Given the description of an element on the screen output the (x, y) to click on. 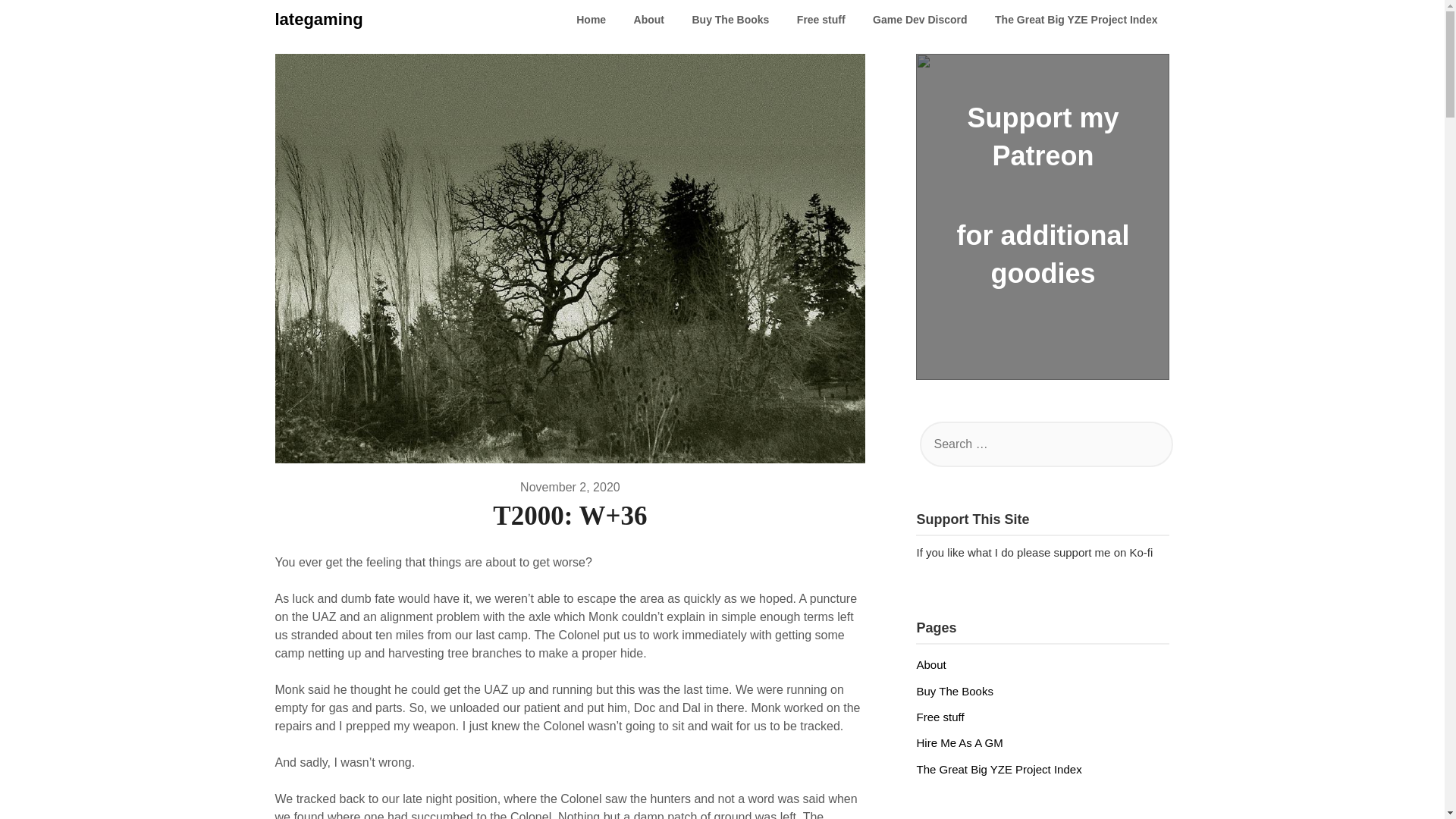
Search (38, 22)
Game Dev Discord (919, 20)
The Great Big YZE Project Index (998, 768)
Home (590, 20)
lategaming (318, 19)
Free stuff (820, 20)
November 2, 2020 (569, 486)
Free stuff (939, 716)
Buy The Books (729, 20)
Buy The Books (953, 689)
Hire Me As A GM (959, 742)
About (649, 20)
The Great Big YZE Project Index (1075, 20)
About (929, 664)
